Given the description of an element on the screen output the (x, y) to click on. 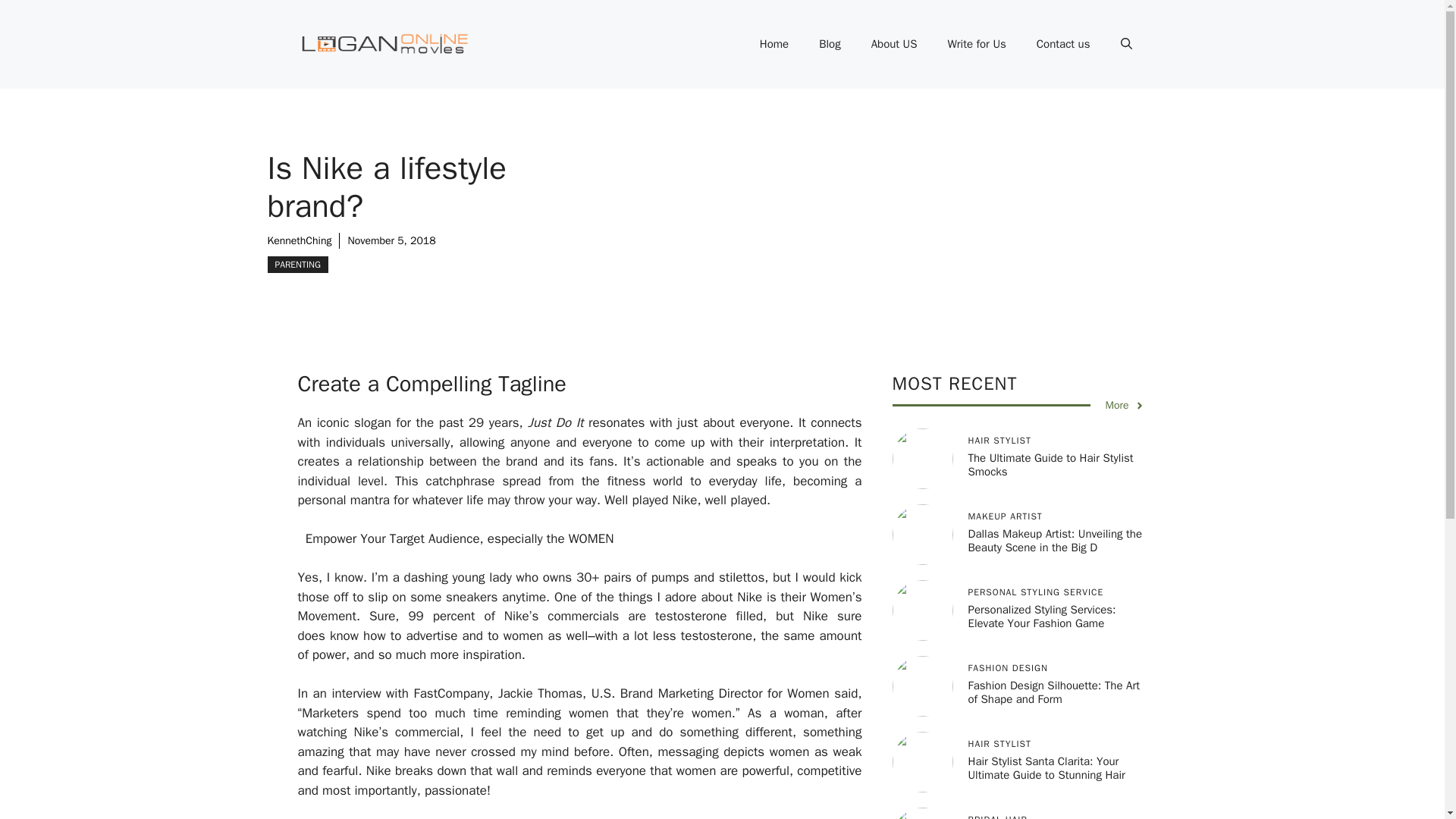
Fashion Design Silhouette: The Art of Shape and Form (1053, 691)
PARENTING (296, 264)
KennethChing (298, 240)
Blog (829, 43)
Contact us (1063, 43)
Personalized Styling Services: Elevate Your Fashion Game (1041, 615)
About US (894, 43)
Home (773, 43)
More (1124, 405)
The Ultimate Guide to Hair Stylist Smocks (1050, 464)
Write for Us (975, 43)
